Given the description of an element on the screen output the (x, y) to click on. 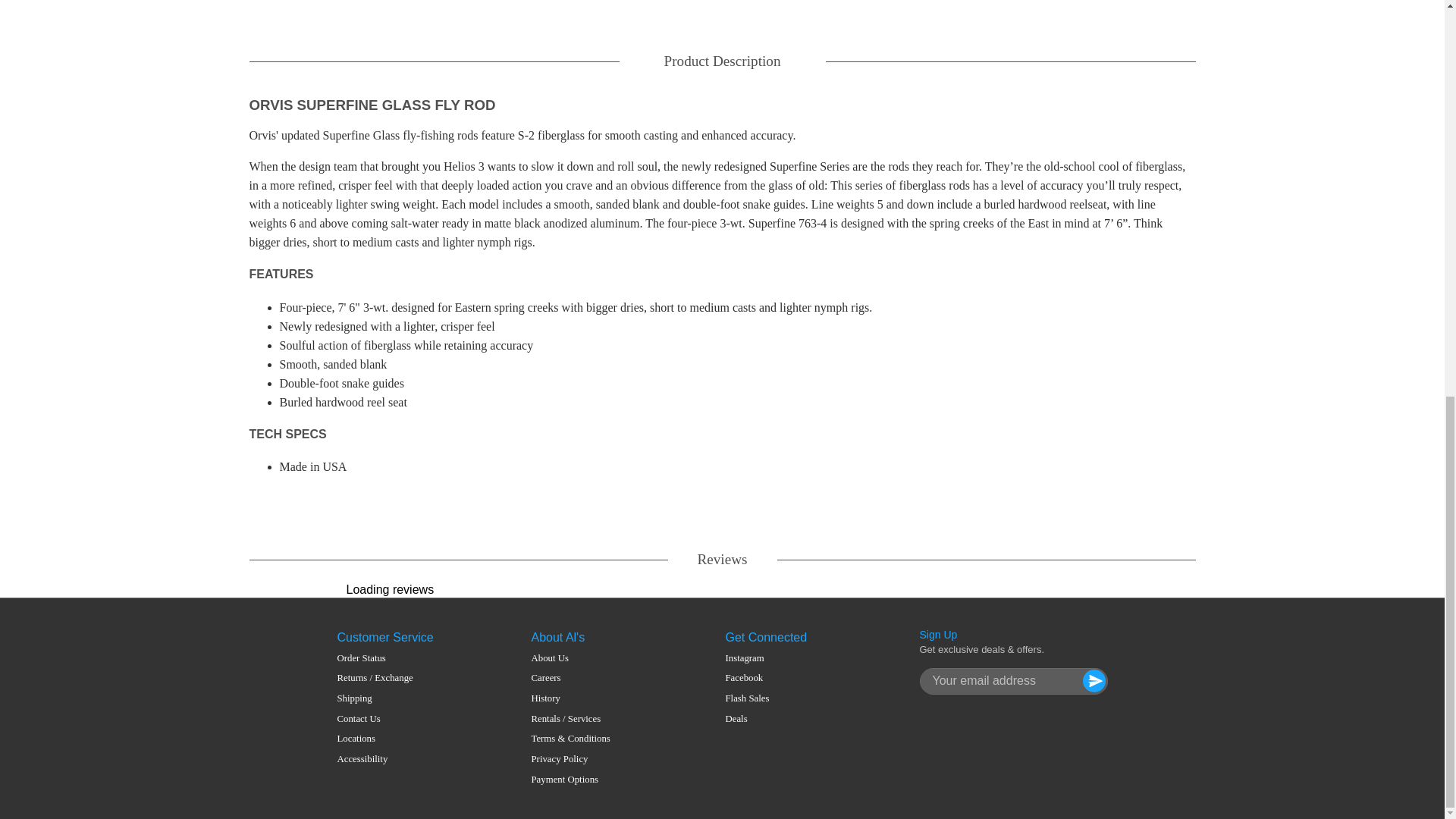
Shipping (374, 698)
Careers (570, 677)
Accessibility (374, 758)
About Us (570, 658)
History (570, 698)
Locations (374, 738)
Order Status (374, 658)
Order Status (374, 658)
Contact Us (374, 718)
